Given the description of an element on the screen output the (x, y) to click on. 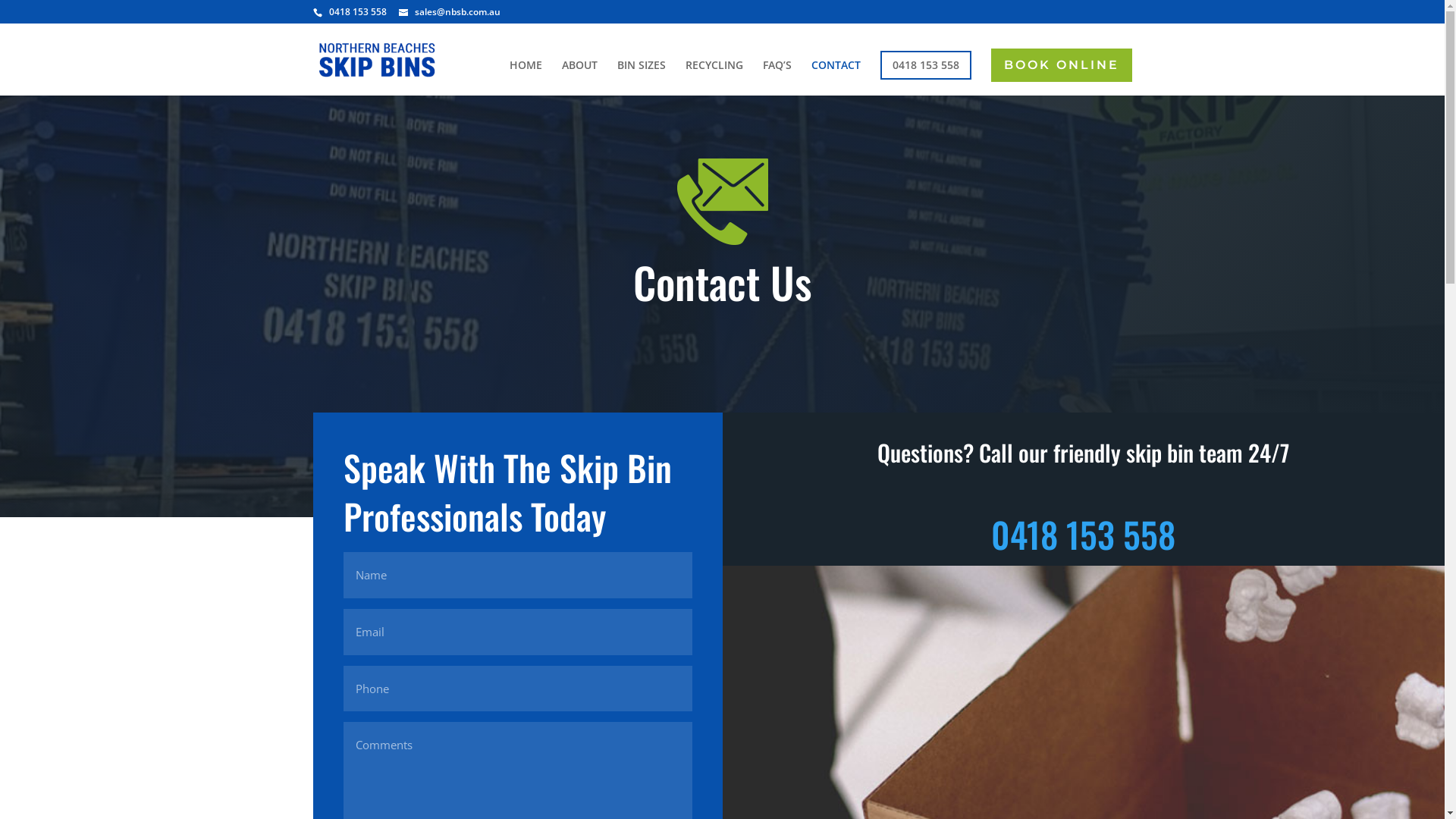
ABOUT Element type: text (578, 77)
BIN SIZES Element type: text (641, 77)
BOOK ONLINE Element type: text (1060, 64)
HOME Element type: text (525, 77)
RECYCLING Element type: text (714, 77)
CONTACT Element type: text (835, 77)
sales@nbsb.com.au Element type: text (449, 11)
0418 153 558 Element type: text (1083, 533)
0418 153 558 Element type: text (357, 11)
0418 153 558 Element type: text (924, 64)
